Given the description of an element on the screen output the (x, y) to click on. 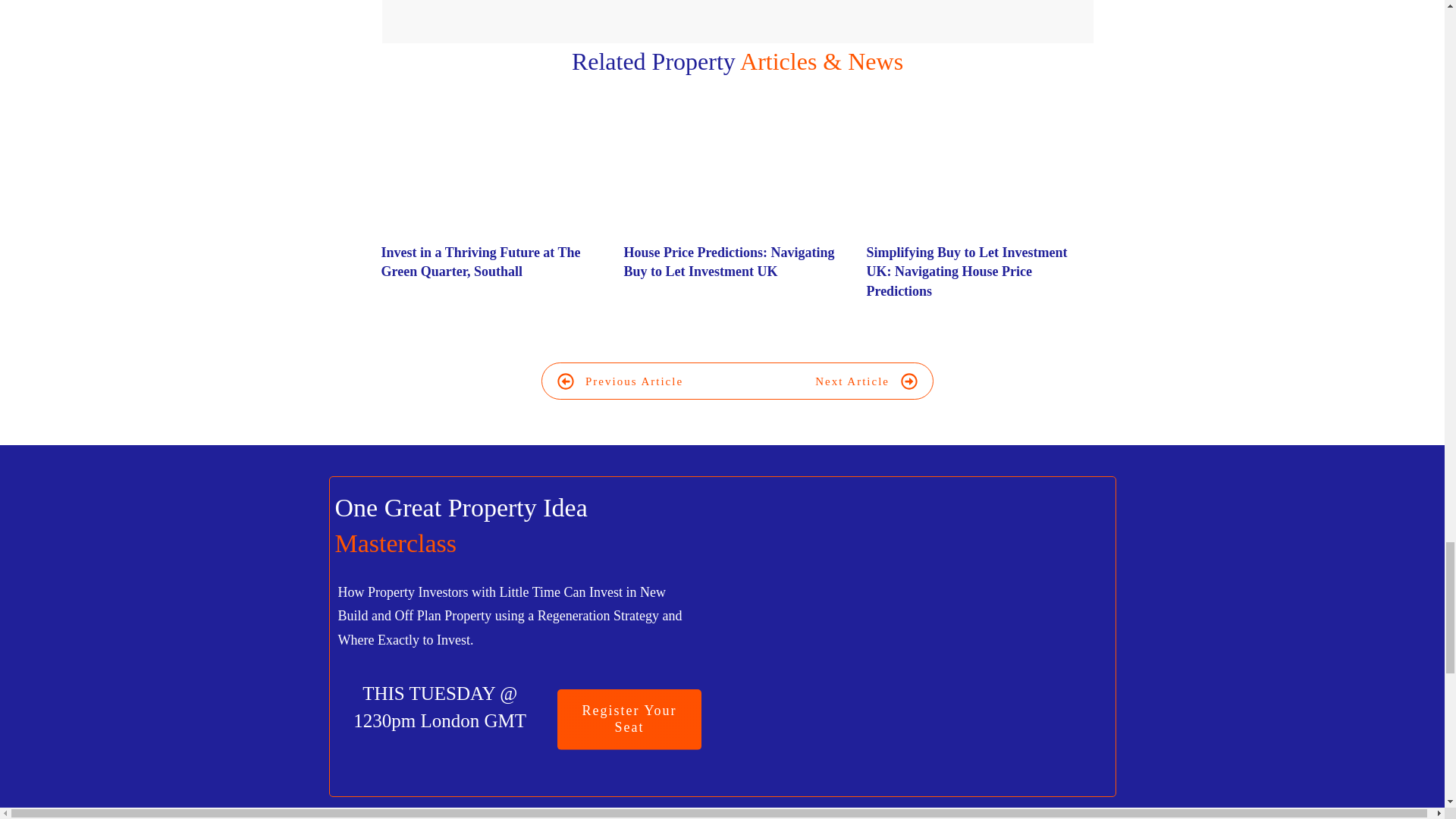
Invest in a Thriving Future at The Green Quarter, Southall (494, 214)
House Price Predictions: Navigating Buy to Let Investment UK (728, 261)
Invest in a Thriving Future at The Green Quarter, Southall (479, 261)
Next Article (866, 381)
Register Your Seat (629, 719)
Invest in a Thriving Future at The Green Quarter, Southall (479, 261)
House Price Predictions: Navigating Buy to Let Investment UK (728, 261)
